Given the description of an element on the screen output the (x, y) to click on. 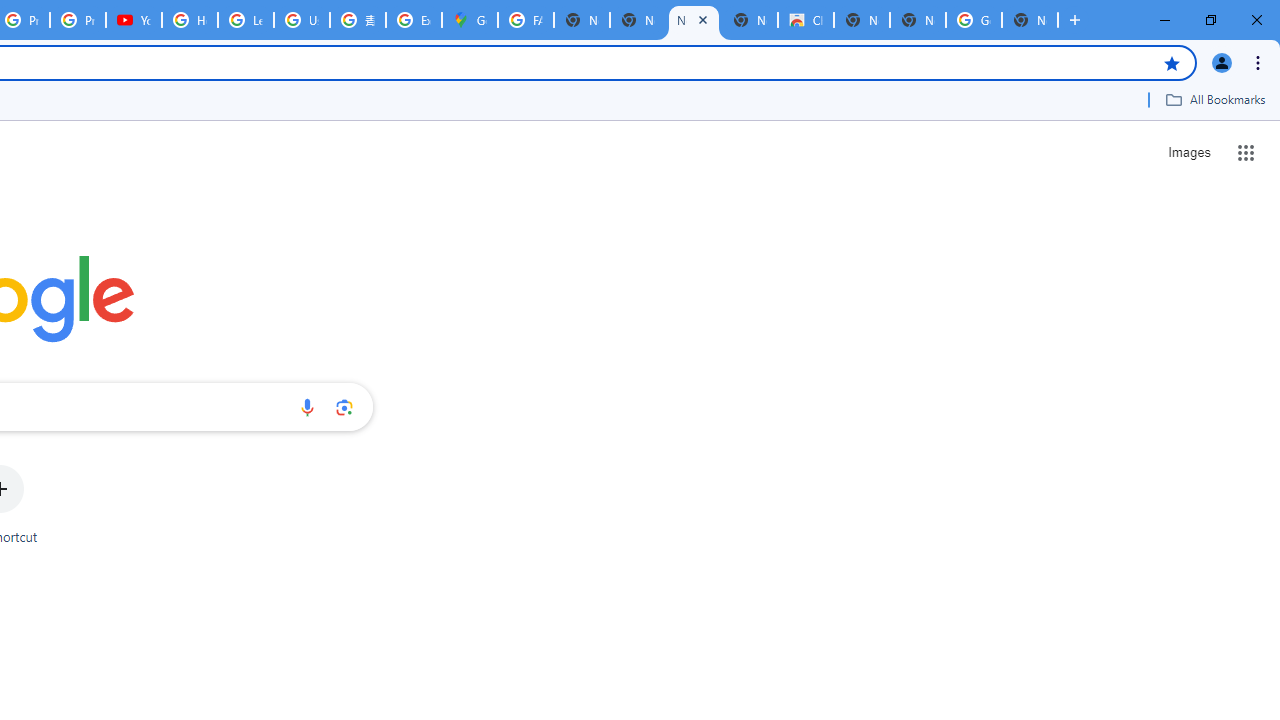
How Chrome protects your passwords - Google Chrome Help (189, 20)
Google Maps (469, 20)
New Tab (917, 20)
YouTube (134, 20)
Privacy Checkup (77, 20)
